Given the description of an element on the screen output the (x, y) to click on. 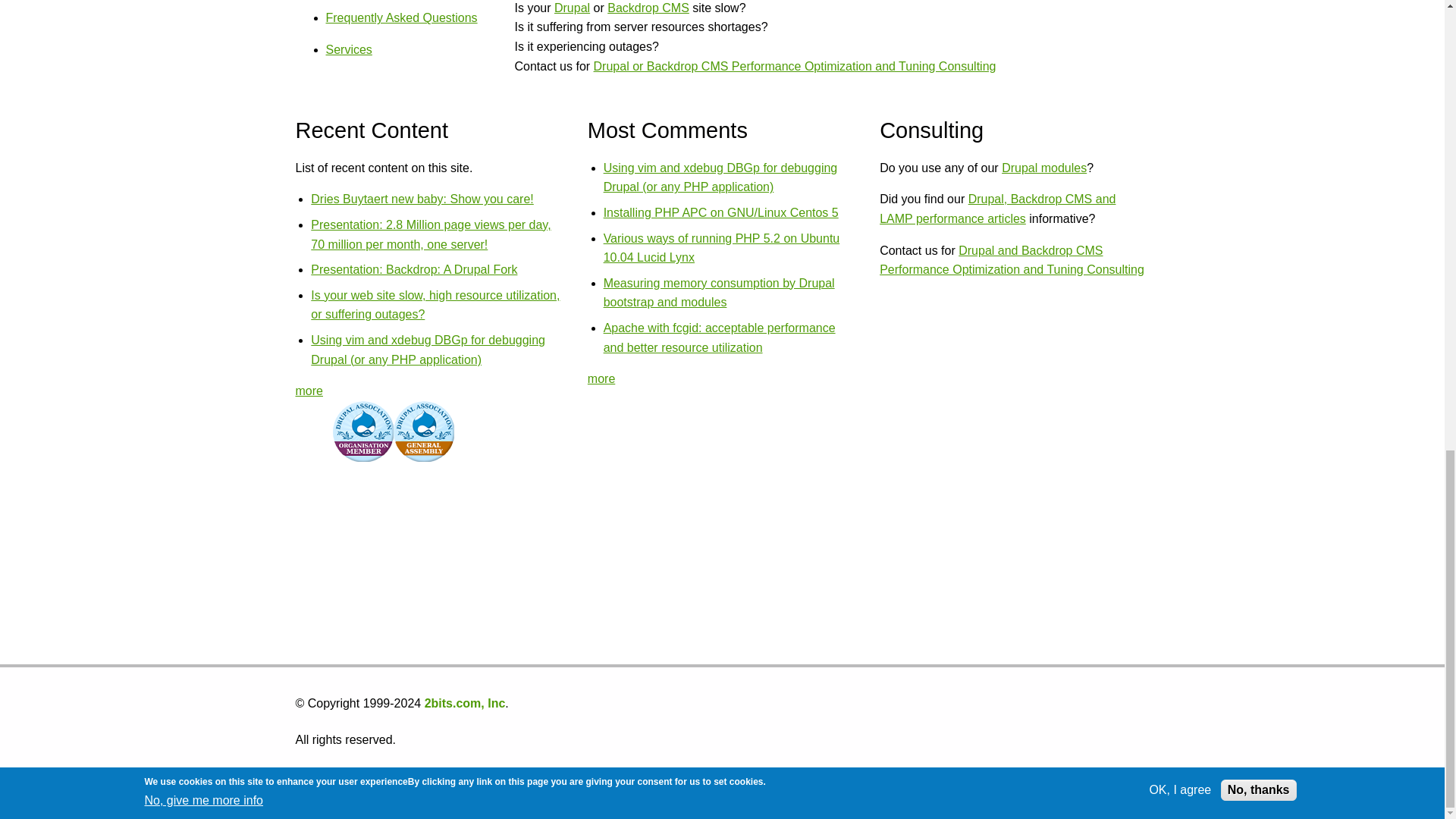
Backdrop CMS (647, 7)
Presentation: Backdrop: A Drupal Fork (413, 269)
more (309, 390)
Services (349, 49)
Drupal (571, 7)
Frequently Asked Questions (401, 17)
Dries Buytaert new baby: Show you care! (421, 198)
